Given the description of an element on the screen output the (x, y) to click on. 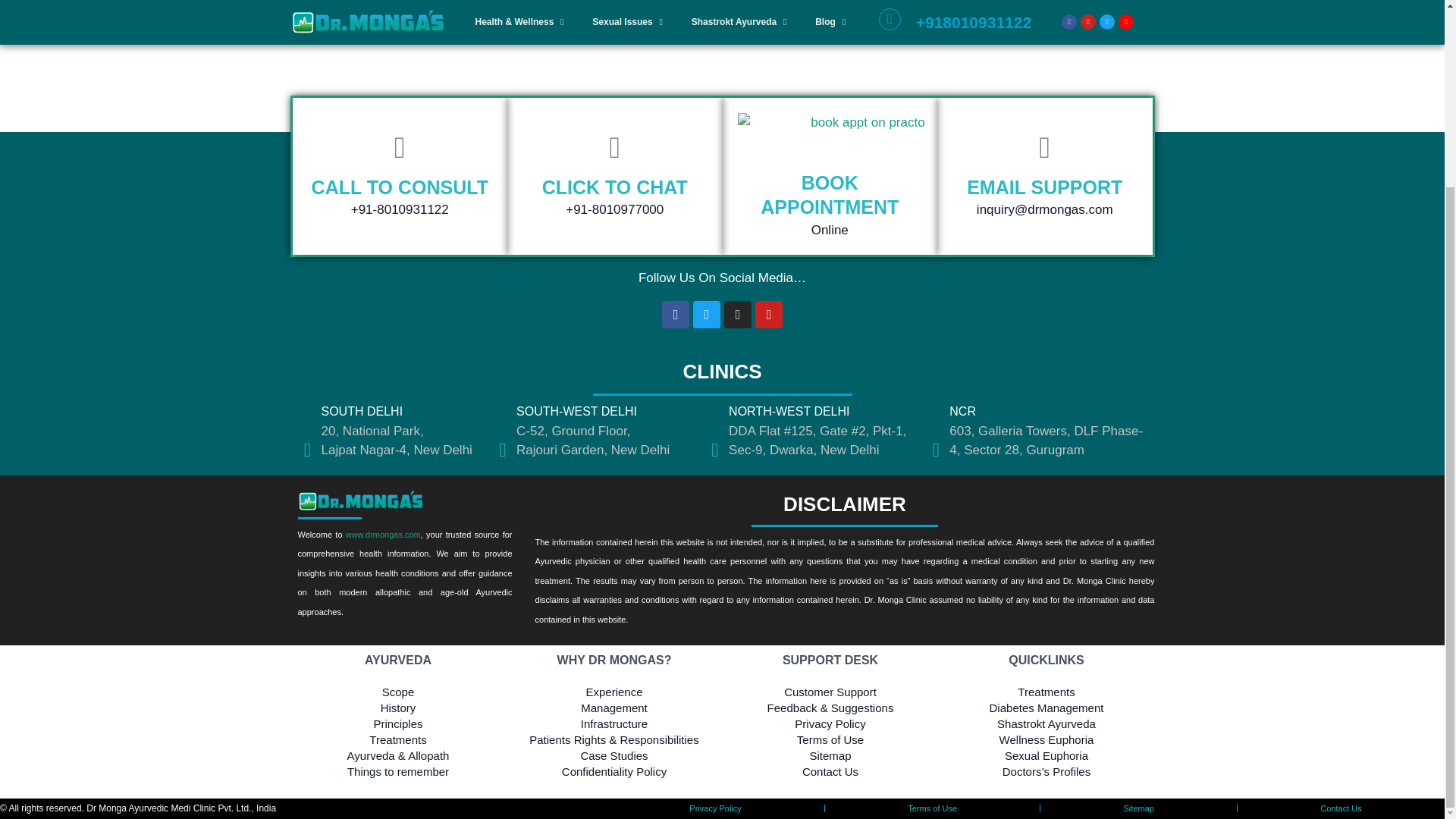
Search (844, 4)
Search (844, 4)
